Given the description of an element on the screen output the (x, y) to click on. 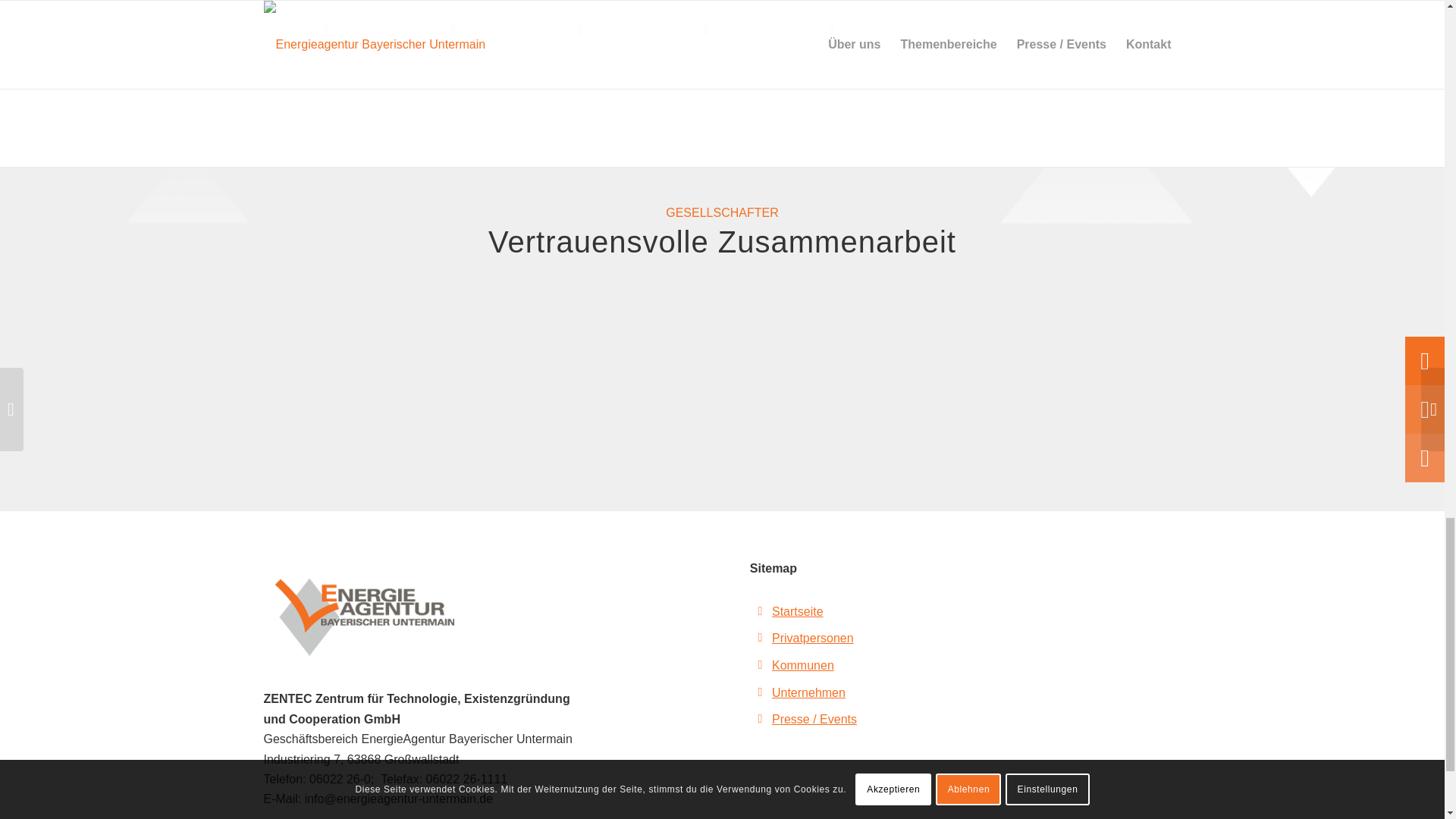
Privatpersonen (812, 637)
Startseite  (797, 611)
Kommunen (802, 665)
Unternehmen (808, 692)
Startseite (797, 611)
